Given the description of an element on the screen output the (x, y) to click on. 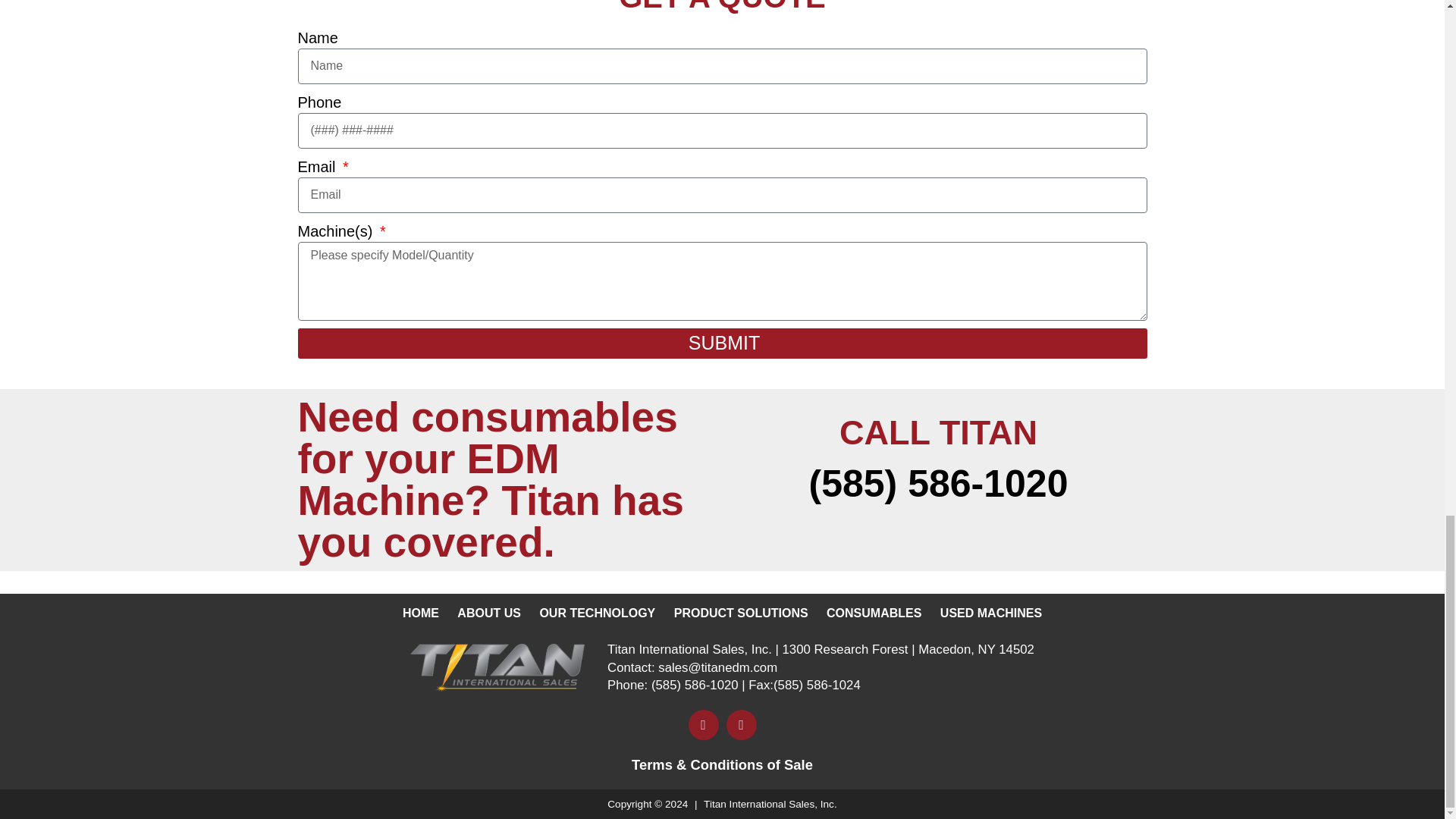
OUR TECHNOLOGY (596, 613)
SUBMIT (722, 343)
HOME (420, 613)
CONSUMABLES (873, 613)
CALL TITAN (938, 432)
ABOUT US (488, 613)
USED MACHINES (991, 613)
PRODUCT SOLUTIONS (740, 613)
